Given the description of an element on the screen output the (x, y) to click on. 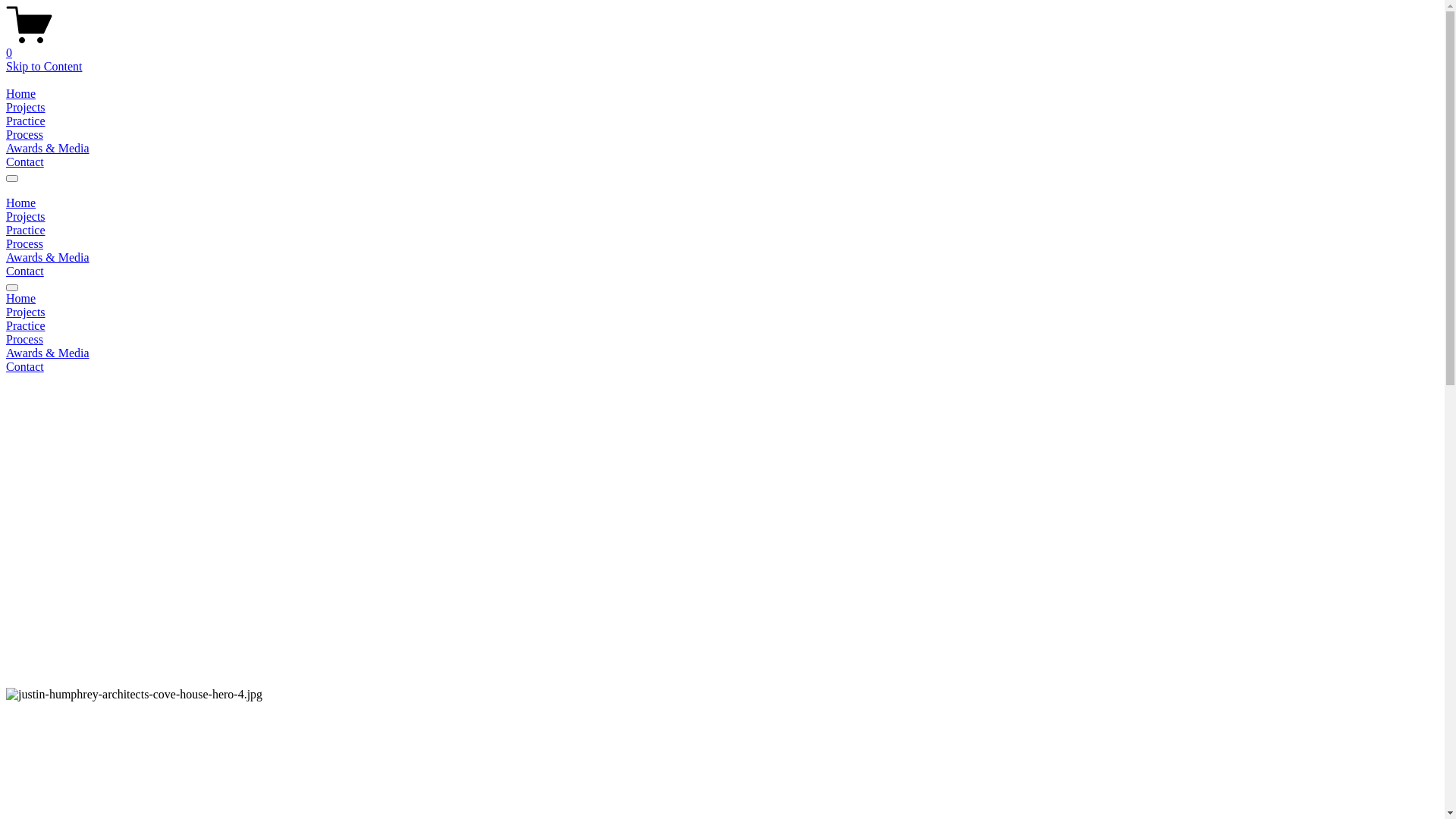
Skip to Content Element type: text (43, 65)
Home Element type: text (722, 298)
0 Element type: text (722, 45)
Practice Element type: text (25, 229)
Awards & Media Element type: text (47, 257)
Process Element type: text (24, 243)
Contact Element type: text (722, 366)
Home Element type: text (20, 93)
Practice Element type: text (25, 120)
Projects Element type: text (722, 312)
Home Element type: text (20, 202)
Projects Element type: text (25, 106)
Contact Element type: text (24, 270)
Projects Element type: text (25, 216)
Process Element type: text (722, 339)
Process Element type: text (24, 134)
Contact Element type: text (24, 161)
Practice Element type: text (722, 325)
Awards & Media Element type: text (722, 353)
Awards & Media Element type: text (47, 147)
